Given the description of an element on the screen output the (x, y) to click on. 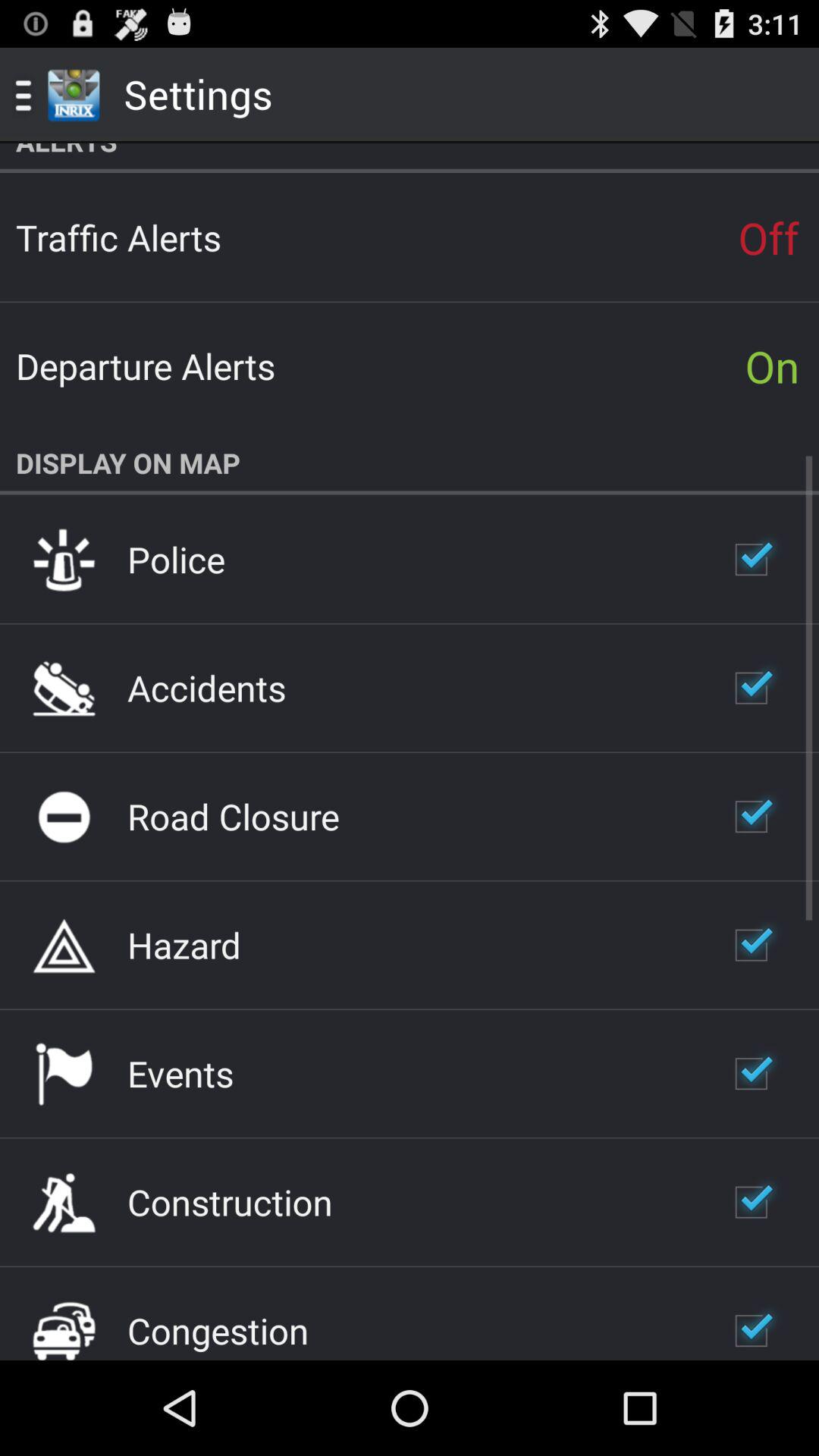
open app to the left of the off (118, 237)
